Given the description of an element on the screen output the (x, y) to click on. 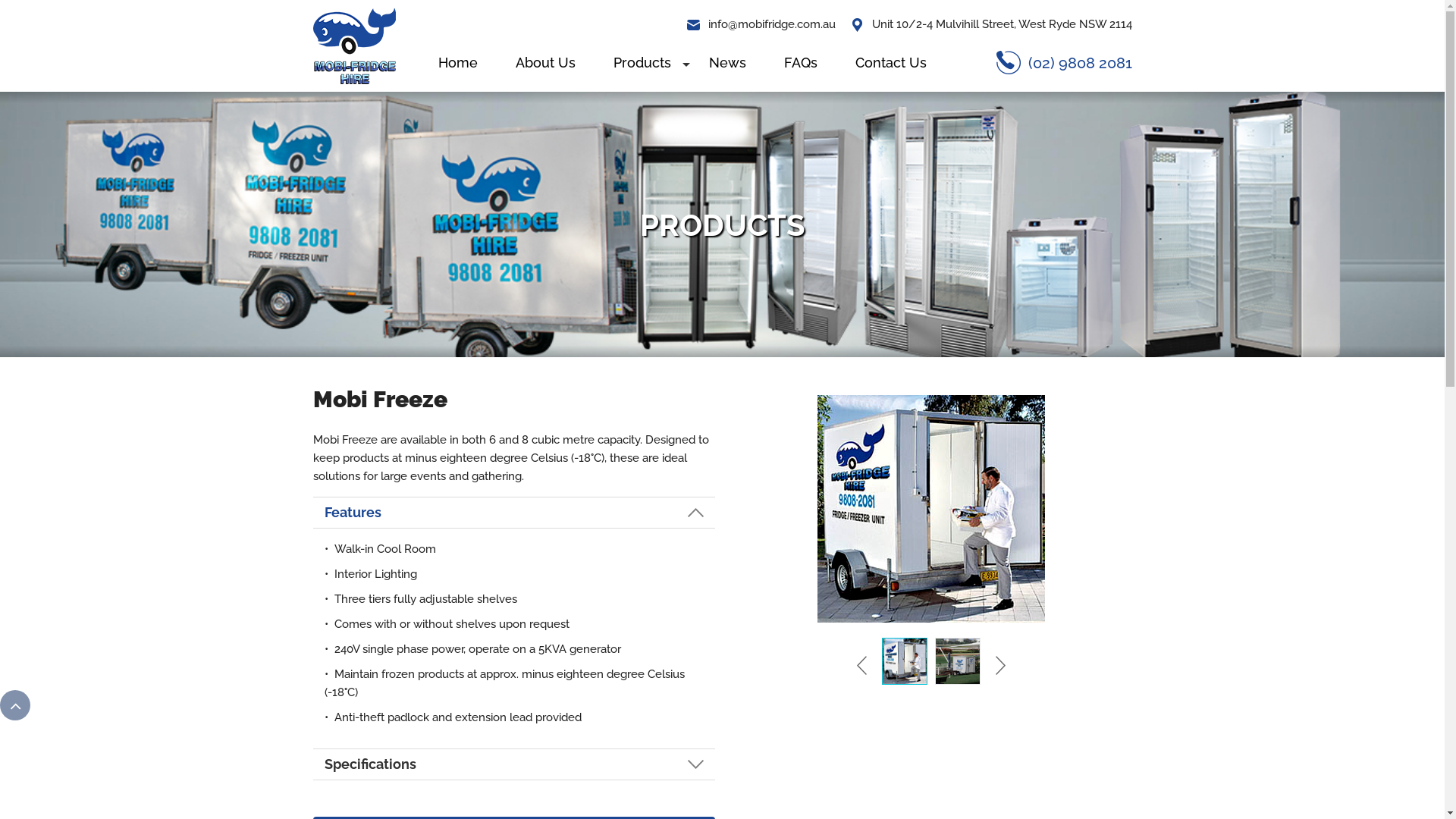
Contact Us Element type: text (889, 62)
Specifications Element type: text (513, 763)
Home Element type: text (456, 62)
Features Element type: text (513, 512)
Prev Element type: text (862, 664)
(02) 9808 2081 Element type: text (1064, 62)
Mobi-Fridge Hire Element type: hover (353, 44)
About Us Element type: text (544, 62)
FAQs Element type: text (799, 62)
Next Element type: text (997, 664)
News Element type: text (727, 62)
+
Products Element type: text (642, 62)
